Given the description of an element on the screen output the (x, y) to click on. 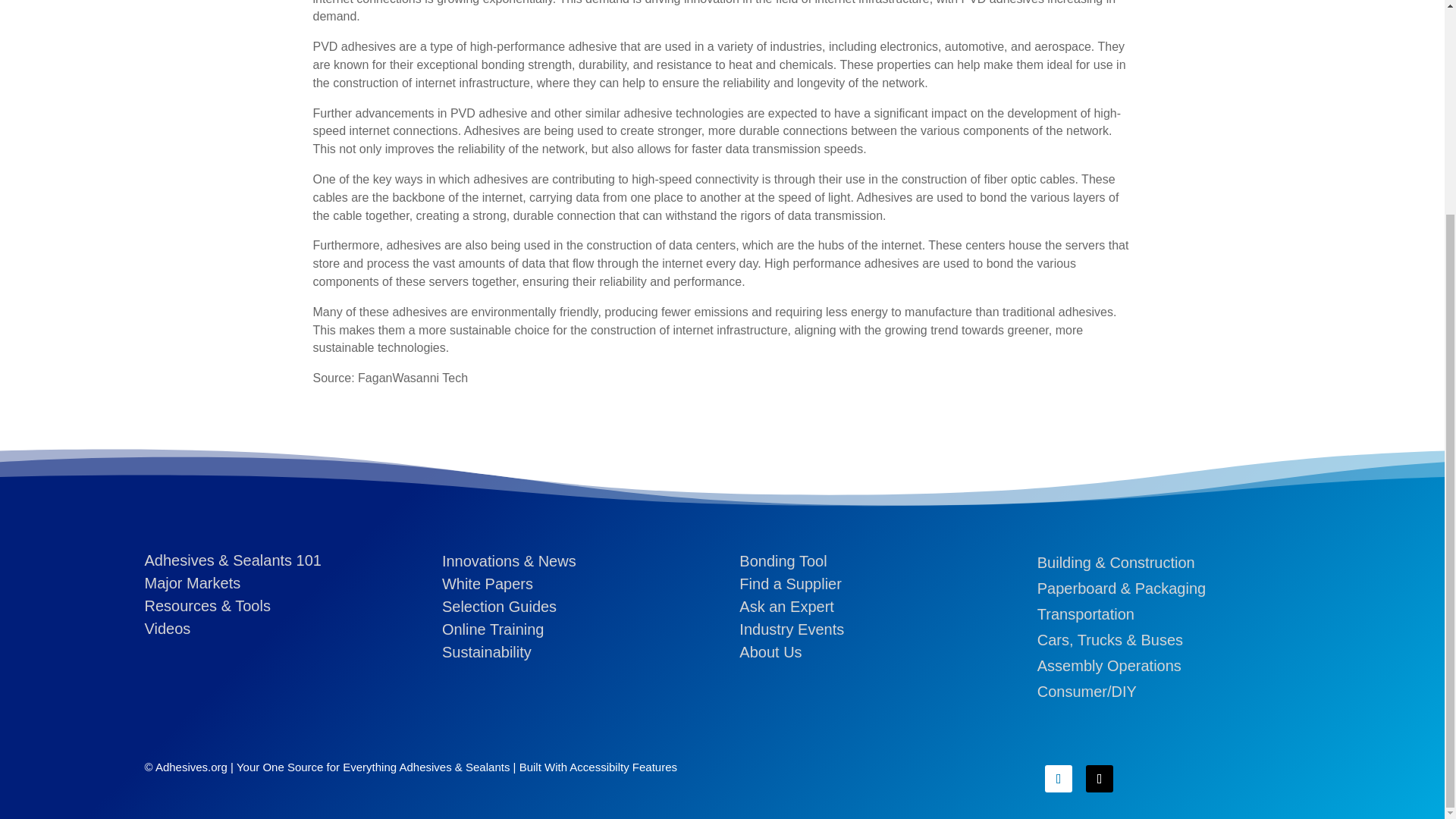
Follow on LinkedIn (1058, 778)
Follow on X (1099, 778)
